Given the description of an element on the screen output the (x, y) to click on. 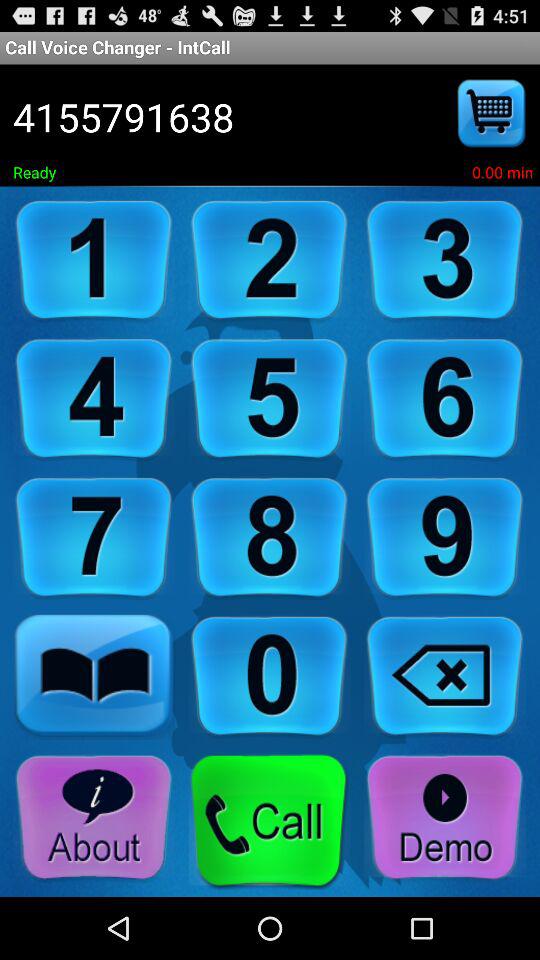
add number 1 (94, 260)
